Given the description of an element on the screen output the (x, y) to click on. 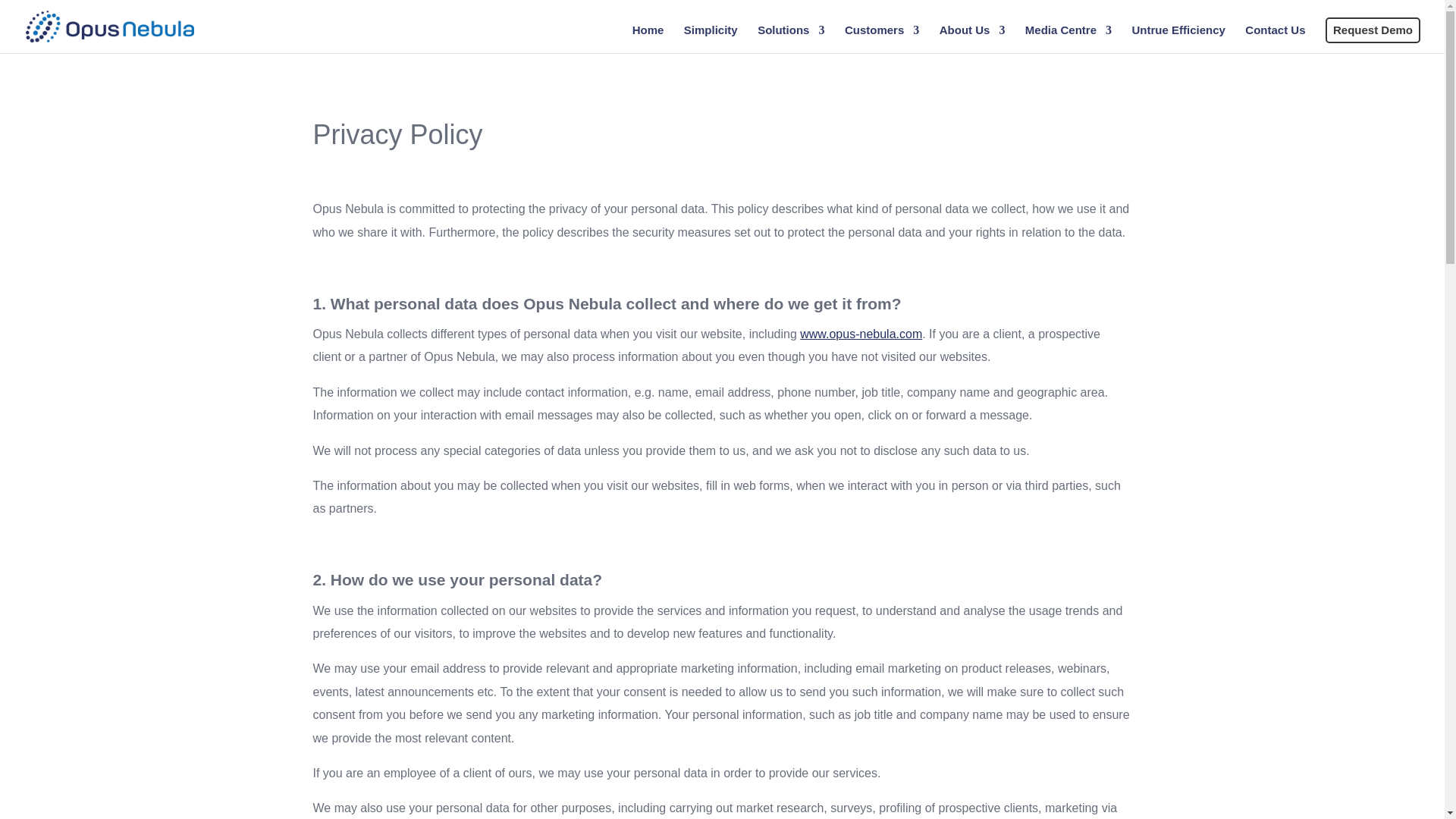
Request Demo (1372, 30)
Customers (881, 39)
Solutions (790, 39)
Home (647, 39)
Simplicity (711, 39)
Contact Us (1274, 39)
Media Centre (1068, 39)
Untrue Efficiency (1177, 39)
About Us (972, 39)
